Given the description of an element on the screen output the (x, y) to click on. 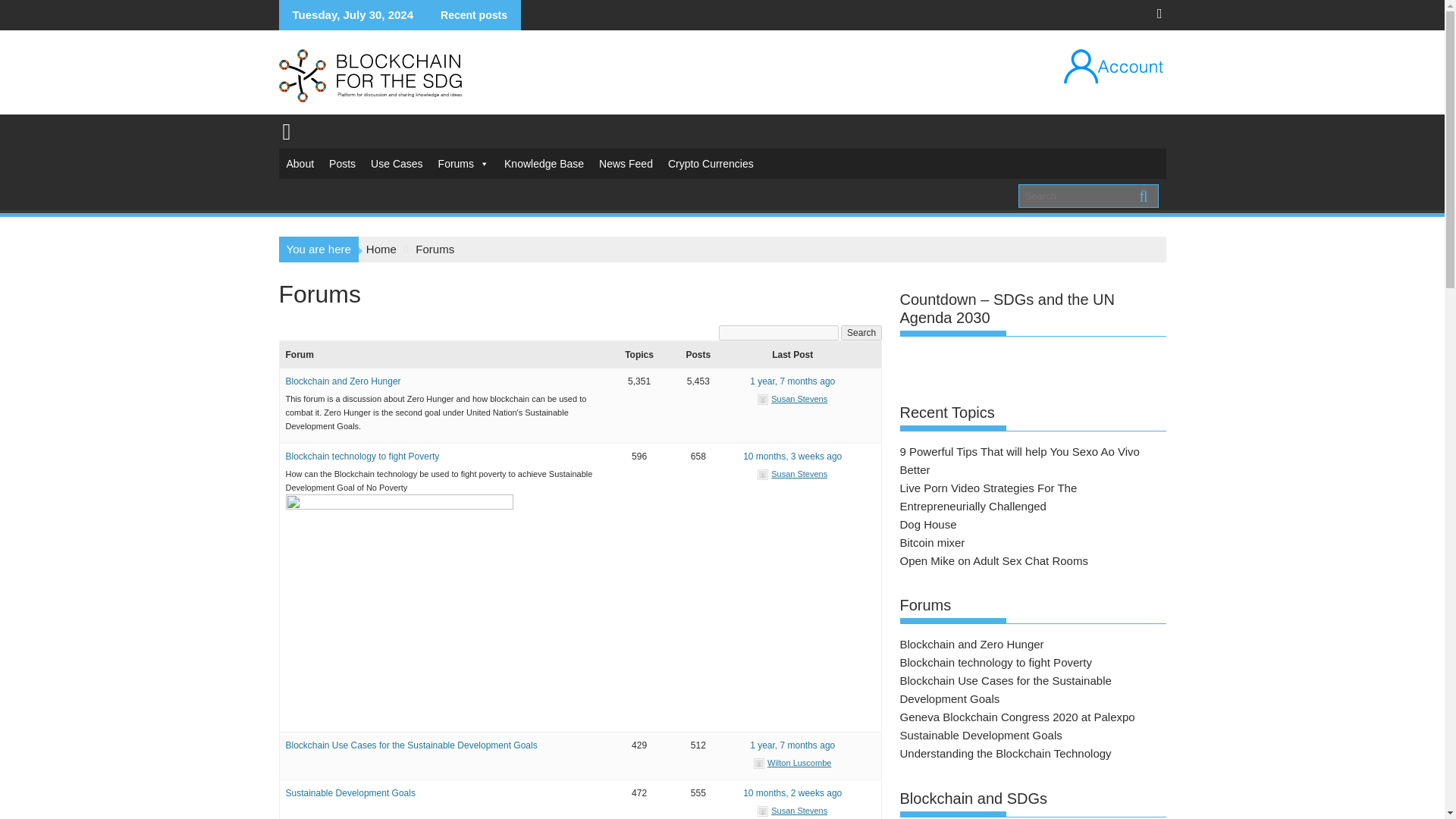
Susan Stevens (792, 473)
View Susan Stevens's profile (792, 809)
View Susan Stevens's profile (792, 473)
9 Powerful Tips That will help You Sexo Ao Vivo Better (791, 792)
About (300, 163)
1 year, 7 months ago (791, 380)
10 months, 3 weeks ago (791, 456)
Crypto Currencies (711, 163)
10 months, 2 weeks ago (791, 792)
Blockchain technology to fight Poverty (362, 456)
Blockchain Use Cases for the Sustainable Development Goals (411, 745)
Naked Webcams Creates Experts (791, 456)
1 year, 7 months ago (791, 745)
